Given the description of an element on the screen output the (x, y) to click on. 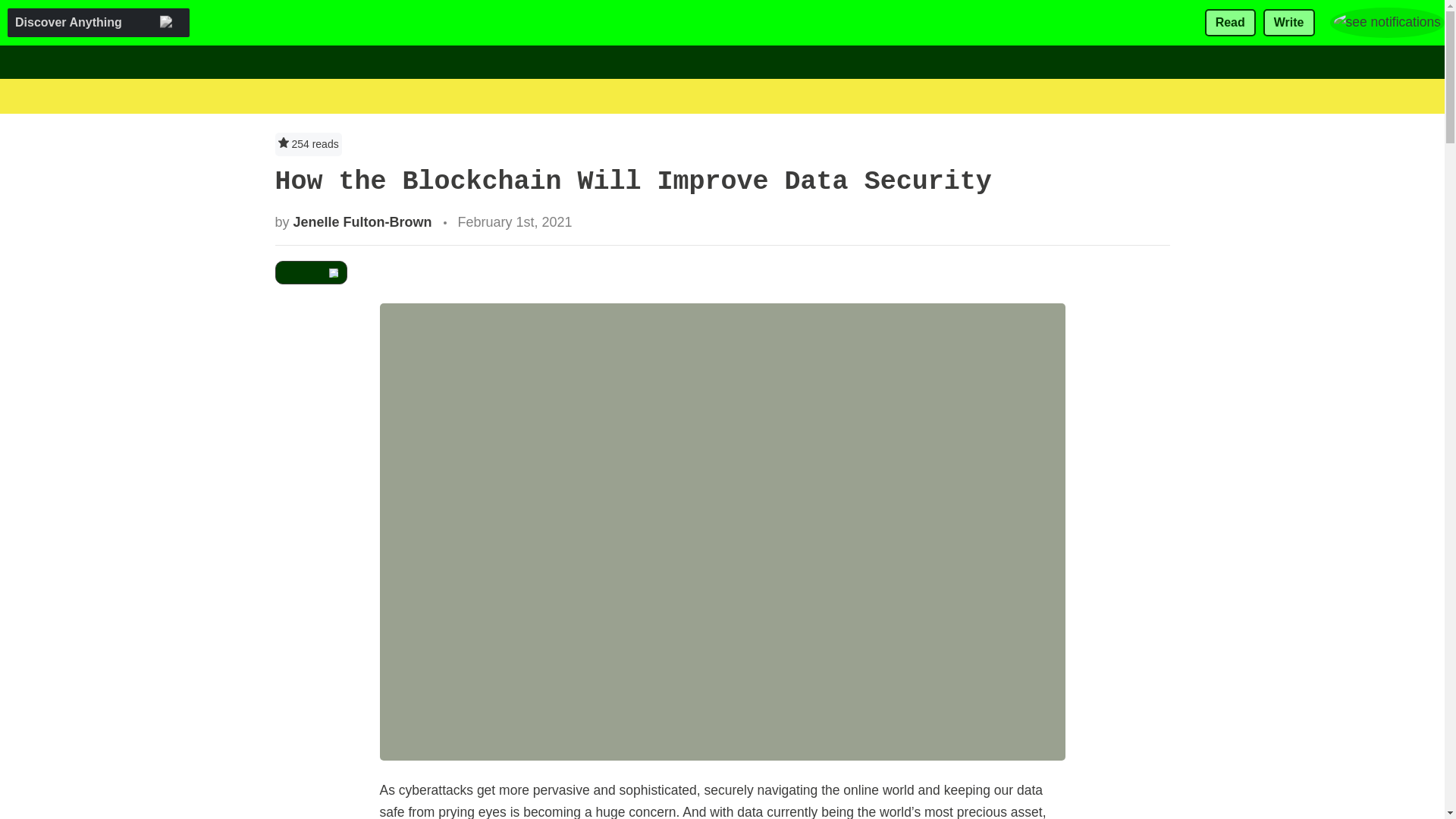
Read (1230, 22)
Write (1288, 22)
Jenelle Fulton-Brown (363, 222)
